Given the description of an element on the screen output the (x, y) to click on. 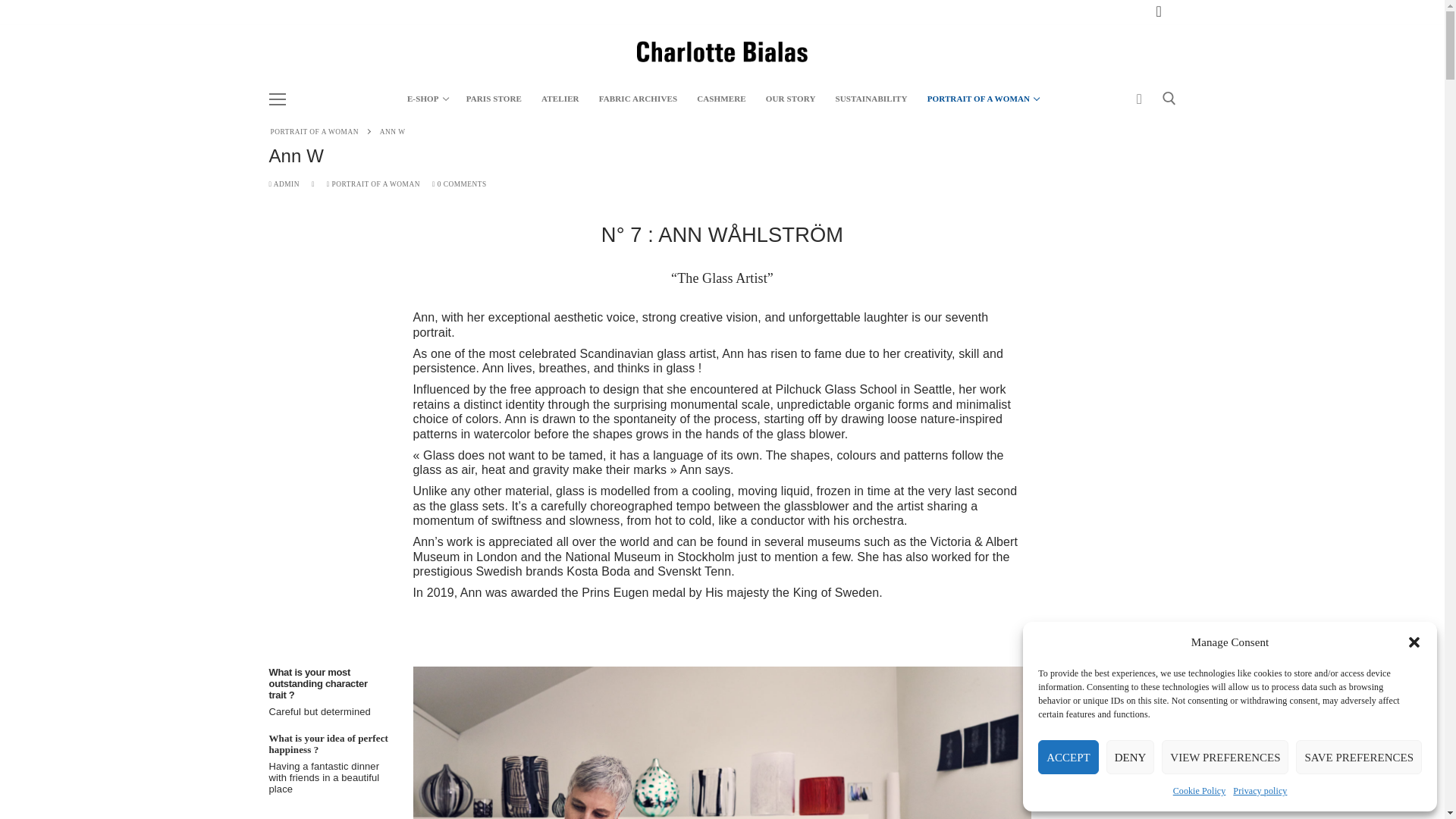
ACCEPT (1068, 756)
Cookie Policy (427, 98)
FABRIC ARCHIVES (1199, 791)
CASHMERE (638, 98)
SAVE PREFERENCES (721, 98)
VIEW PREFERENCES (981, 98)
PARIS STORE (1358, 756)
Go to the PORTRAIT OF A WOMAN category archives. (1224, 756)
OUR STORY (494, 98)
ATELIER (314, 131)
Privacy policy (790, 98)
DENY (560, 98)
SUSTAINABILITY (1260, 791)
